Given the description of an element on the screen output the (x, y) to click on. 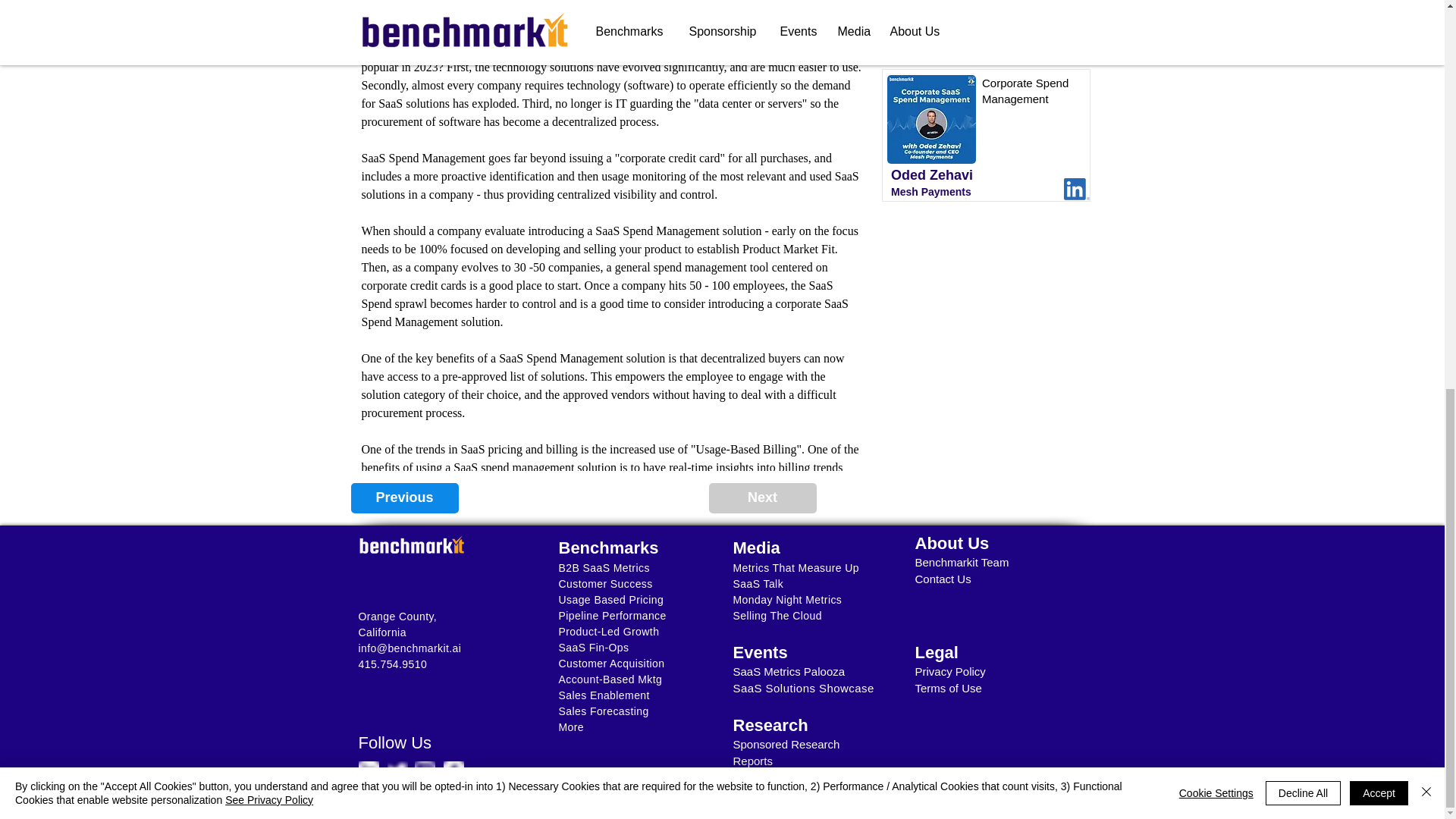
Next (761, 498)
Customer Success (604, 583)
B2B SaaS Metrics (603, 567)
Previous (404, 498)
LI-In-Bug.png (1076, 48)
Usage Based Pricing (610, 599)
LI-In-Bug.png (1076, 188)
